Given the description of an element on the screen output the (x, y) to click on. 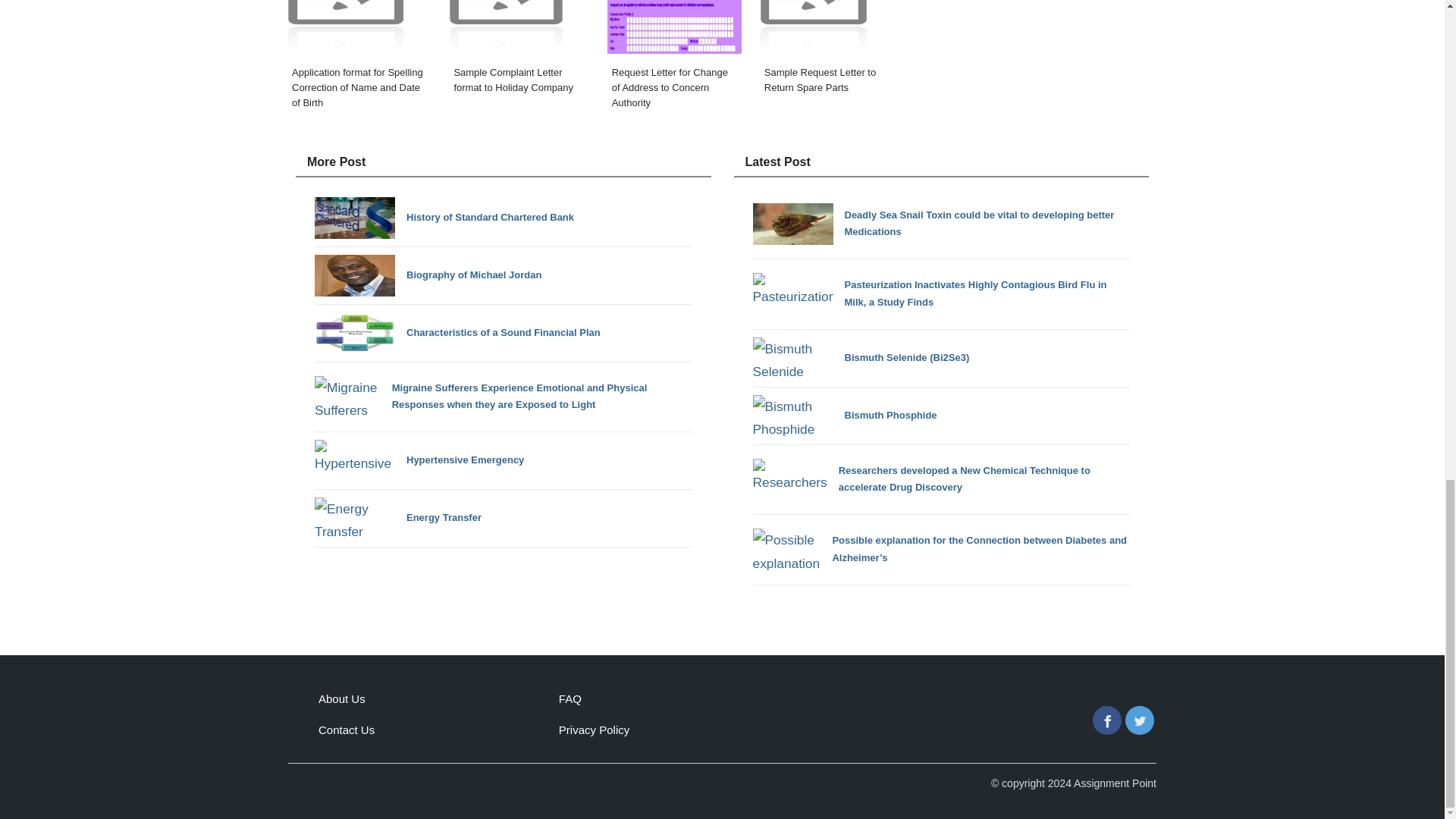
Hypertensive Emergency (419, 460)
Request Letter for Change of Address to Concern Authority (674, 59)
Contact Us (346, 729)
Energy Transfer (397, 517)
Characteristics of a Sound Financial Plan (456, 332)
Biography of Michael Jordan (427, 275)
